Given the description of an element on the screen output the (x, y) to click on. 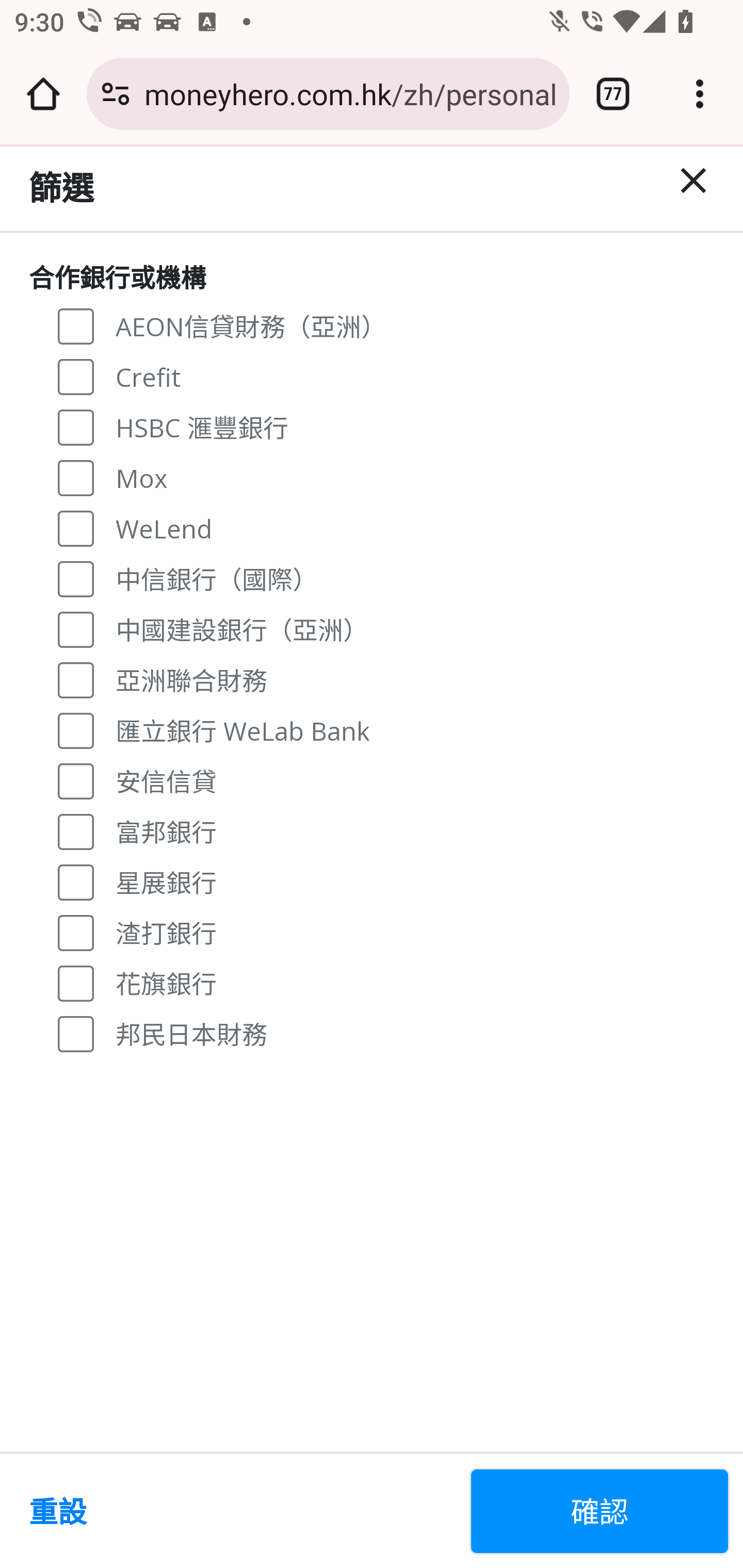
Open the home page (43, 93)
Connection is secure (115, 93)
Switch or close tabs (612, 93)
Customize and control Google Chrome (699, 93)
AEON信貸財務（亞洲） (76, 325)
Crefit (76, 376)
HSBC 滙豐銀行 (76, 426)
Mox (76, 476)
WeLend (76, 528)
中信銀行（國際） (76, 578)
中國建設銀行（亞洲） (76, 628)
亞洲聯合財務 (76, 678)
匯立銀行 WeLab Bank (76, 730)
安信信貸 (76, 780)
富邦銀行 (76, 830)
星展銀行 (76, 881)
渣打銀行 (76, 932)
花旗銀行 (76, 982)
邦民日本財務 (76, 1033)
重設 (241, 1511)
確認 (600, 1511)
